Given the description of an element on the screen output the (x, y) to click on. 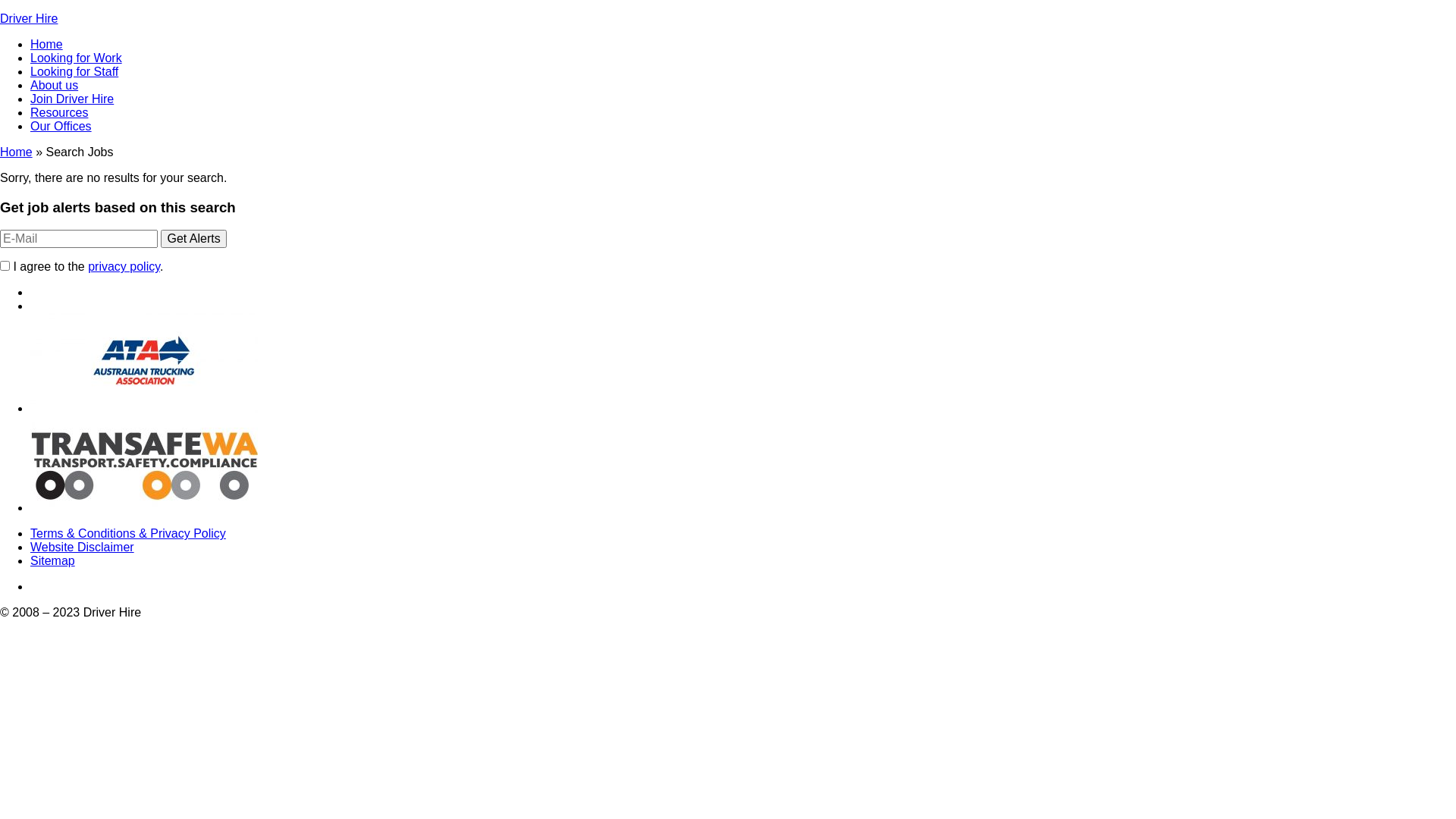
Website Disclaimer Element type: text (82, 546)
Home Element type: text (16, 151)
Home Element type: text (46, 43)
Looking for Work Element type: text (76, 57)
Driver Hire Element type: text (28, 18)
Terms & Conditions & Privacy Policy Element type: text (127, 533)
Get Alerts Element type: text (192, 238)
Sitemap Element type: text (52, 560)
About us Element type: text (54, 84)
Our Offices Element type: text (60, 125)
Resources Element type: text (58, 112)
privacy policy Element type: text (123, 266)
Looking for Staff Element type: text (74, 71)
Join Driver Hire Element type: text (71, 98)
